Given the description of an element on the screen output the (x, y) to click on. 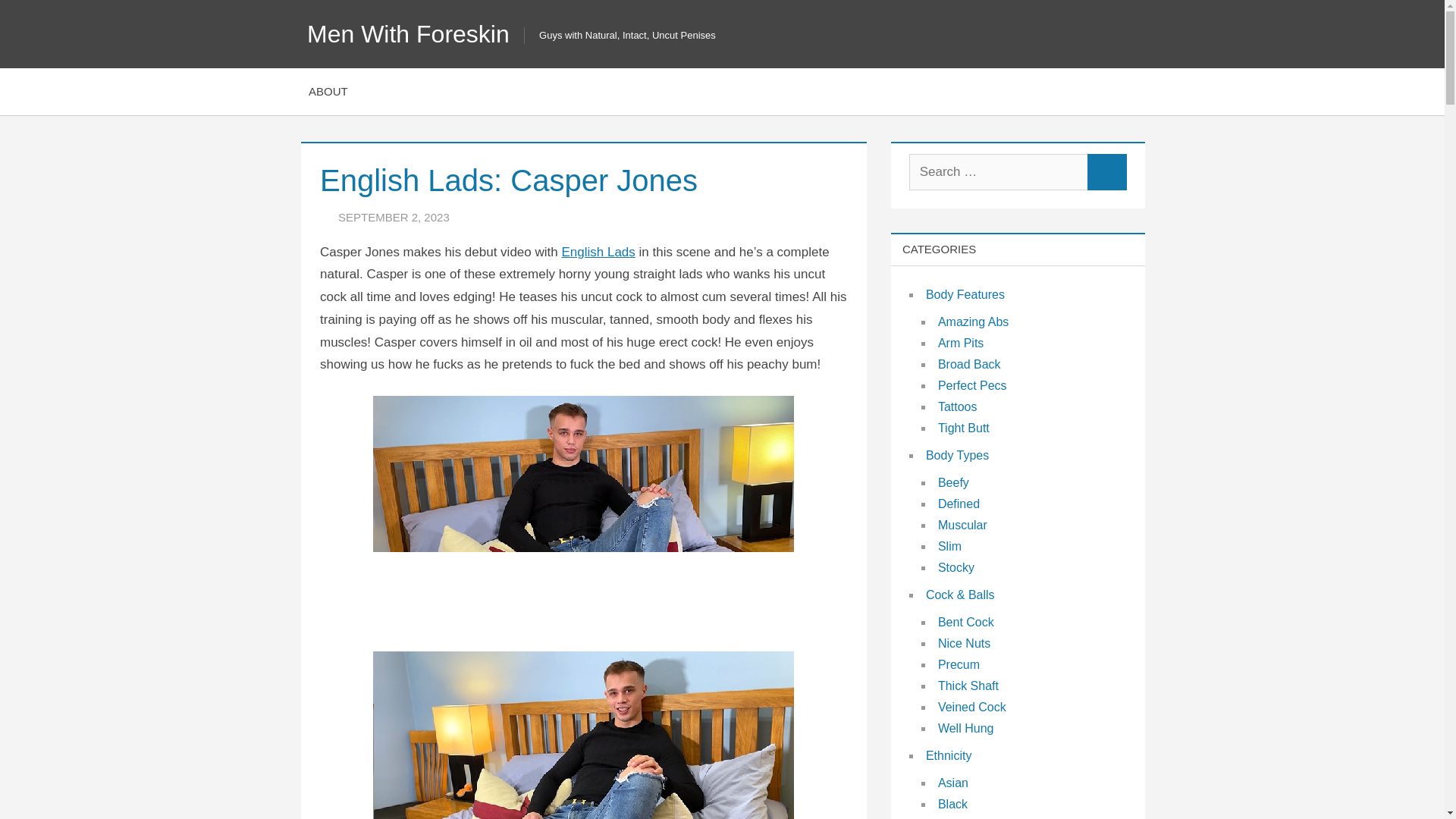
Men With Foreskin (408, 33)
SEPTEMBER 2, 2023 (393, 216)
11:00 am (393, 216)
TIMBO (502, 216)
View all posts by timbo (502, 216)
English Lads (597, 251)
ABOUT (328, 91)
Search for: (997, 171)
